Given the description of an element on the screen output the (x, y) to click on. 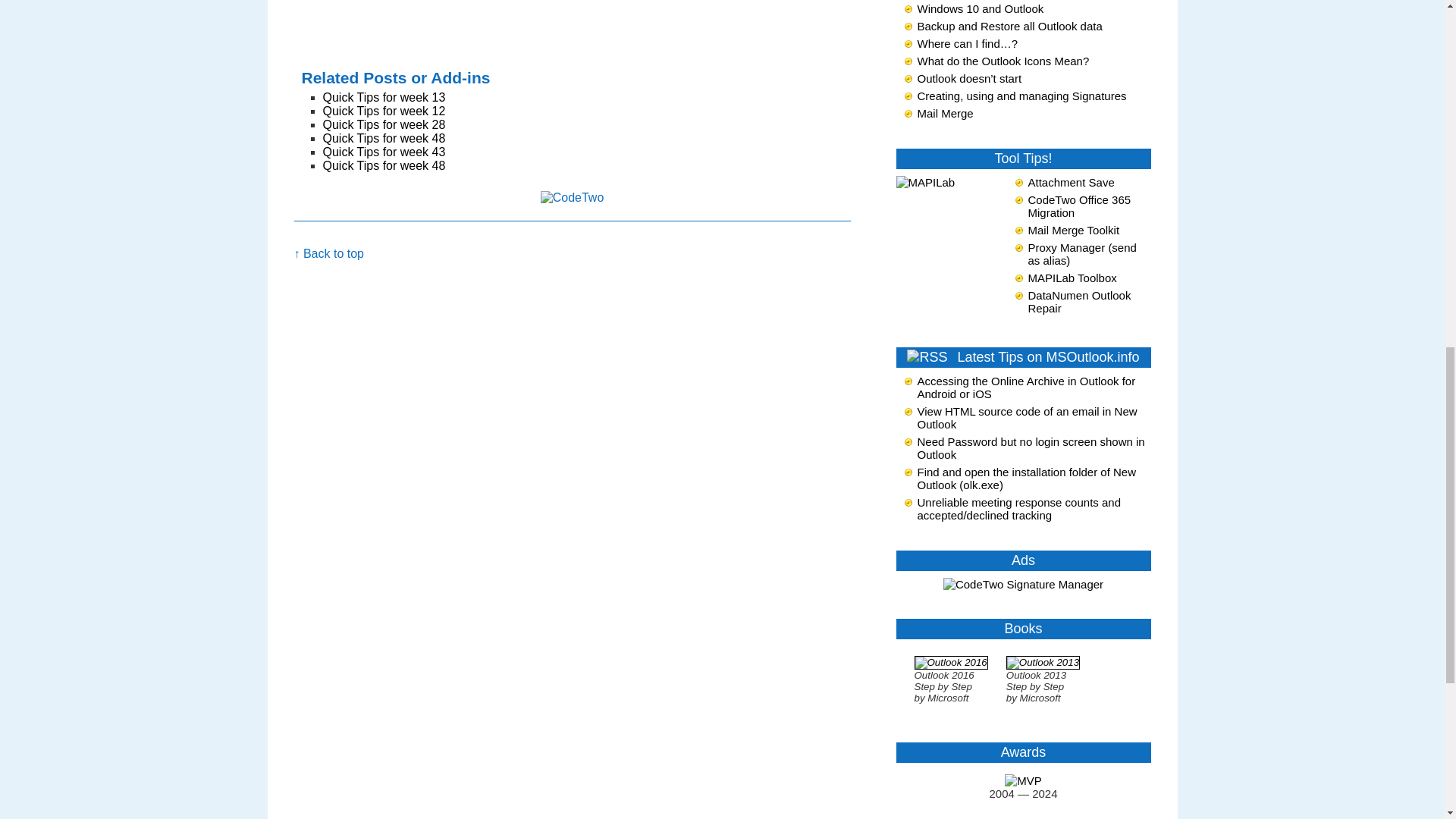
Quick Tips for week 48 (384, 137)
Quick Tips for week 28 (384, 124)
Quick Tips for week 12 (384, 110)
Quick Tips for week 12 (384, 110)
Quick Tips for week 48 (384, 164)
Windows 10 and Outlook (980, 8)
Quick Tips for week 28 (384, 124)
Quick Tips for week 13 (384, 97)
Backup and Restore all Outlook data (1009, 25)
Quick Tips for week 43 (384, 151)
Quick Tips for week 13 (384, 97)
